Given the description of an element on the screen output the (x, y) to click on. 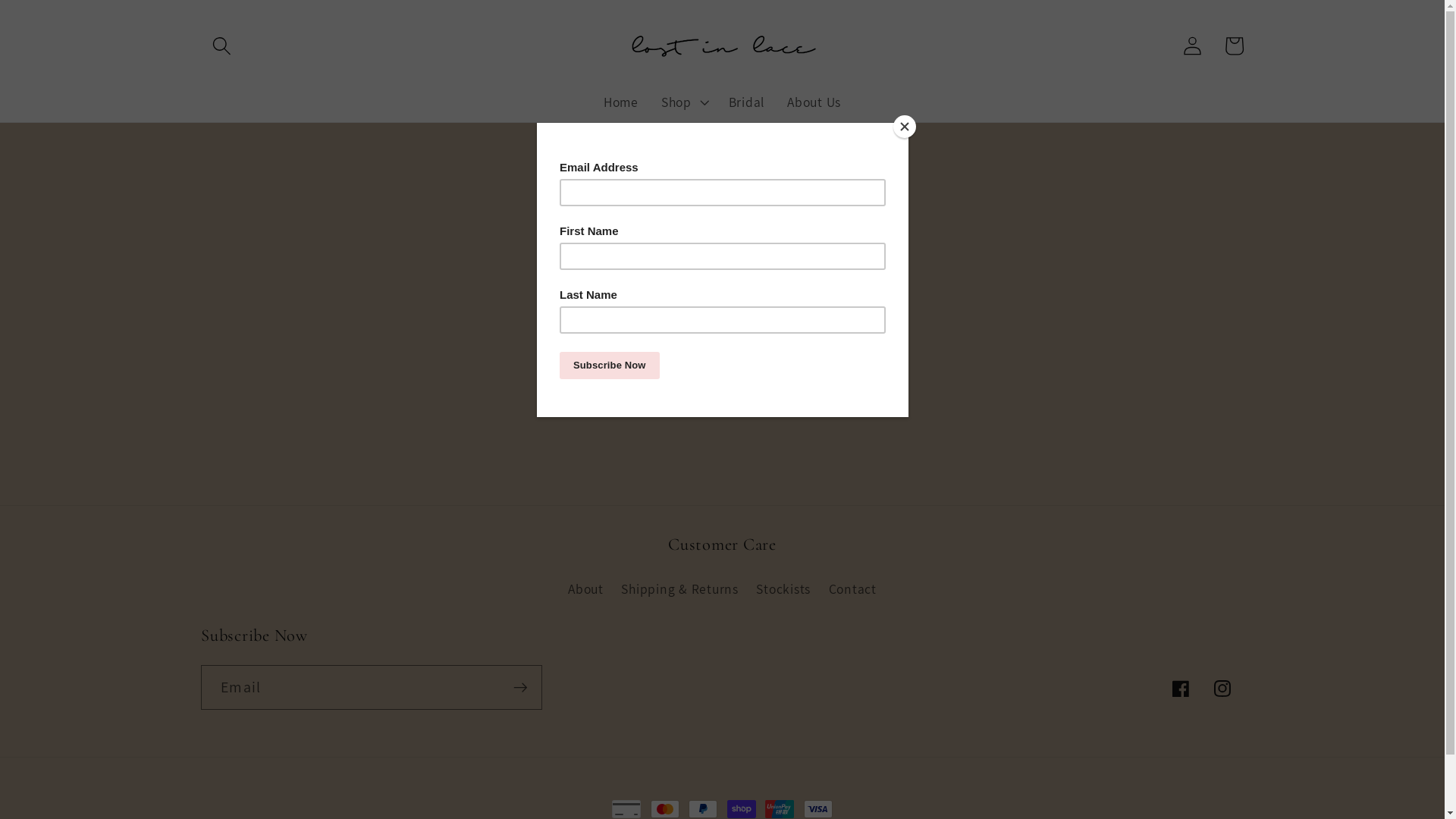
Stockists Element type: text (783, 589)
Contact Element type: text (852, 589)
Bridal Element type: text (746, 102)
Home Element type: text (620, 102)
Shipping & Returns Element type: text (679, 589)
Log in Element type: text (1192, 45)
Facebook Element type: text (1180, 688)
About Us Element type: text (813, 102)
About Element type: text (585, 591)
Continue shopping Element type: text (722, 379)
Instagram Element type: text (1222, 688)
Cart Element type: text (1234, 45)
